Given the description of an element on the screen output the (x, y) to click on. 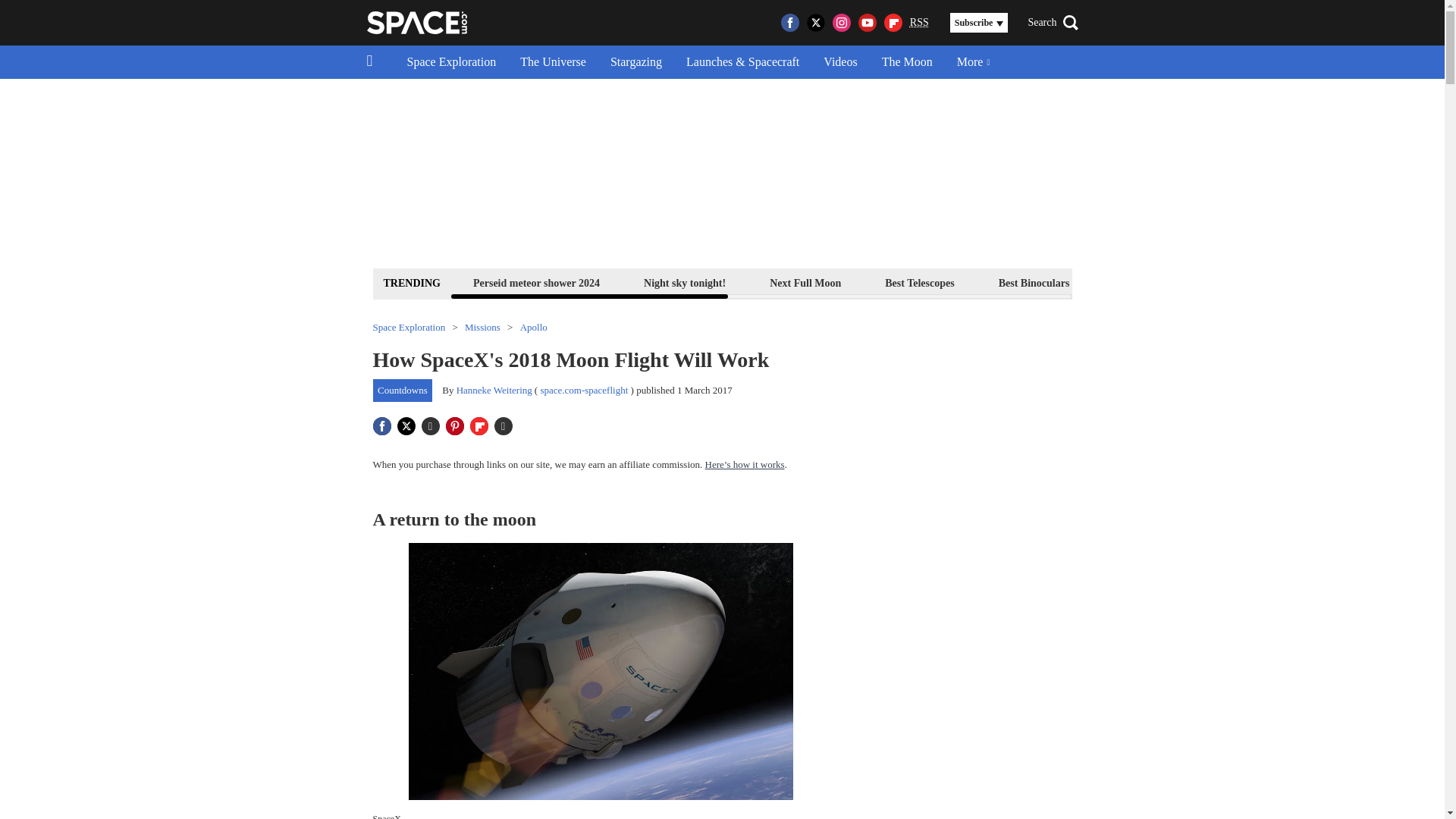
Best Star Projectors (1158, 282)
Videos (839, 61)
Perseid meteor shower 2024 (536, 282)
Night sky tonight! (684, 282)
Space Exploration (451, 61)
RSS (919, 22)
Best Telescopes (919, 282)
Next Full Moon (804, 282)
The Moon (906, 61)
Best Binoculars (1033, 282)
